Given the description of an element on the screen output the (x, y) to click on. 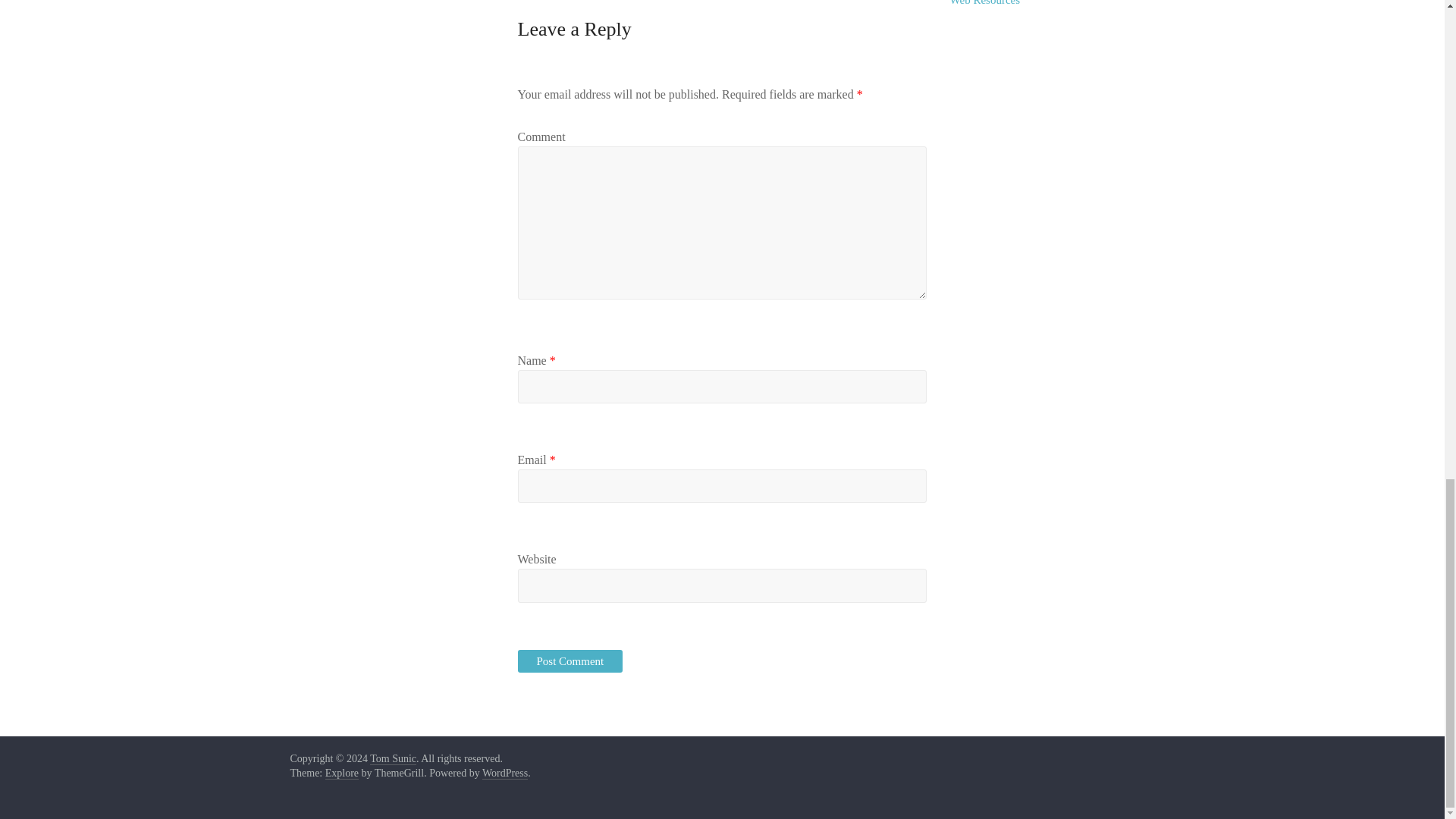
Tom Sunic (392, 758)
Explore (341, 773)
Post Comment (569, 661)
Post Comment (569, 661)
WordPress (504, 773)
